Given the description of an element on the screen output the (x, y) to click on. 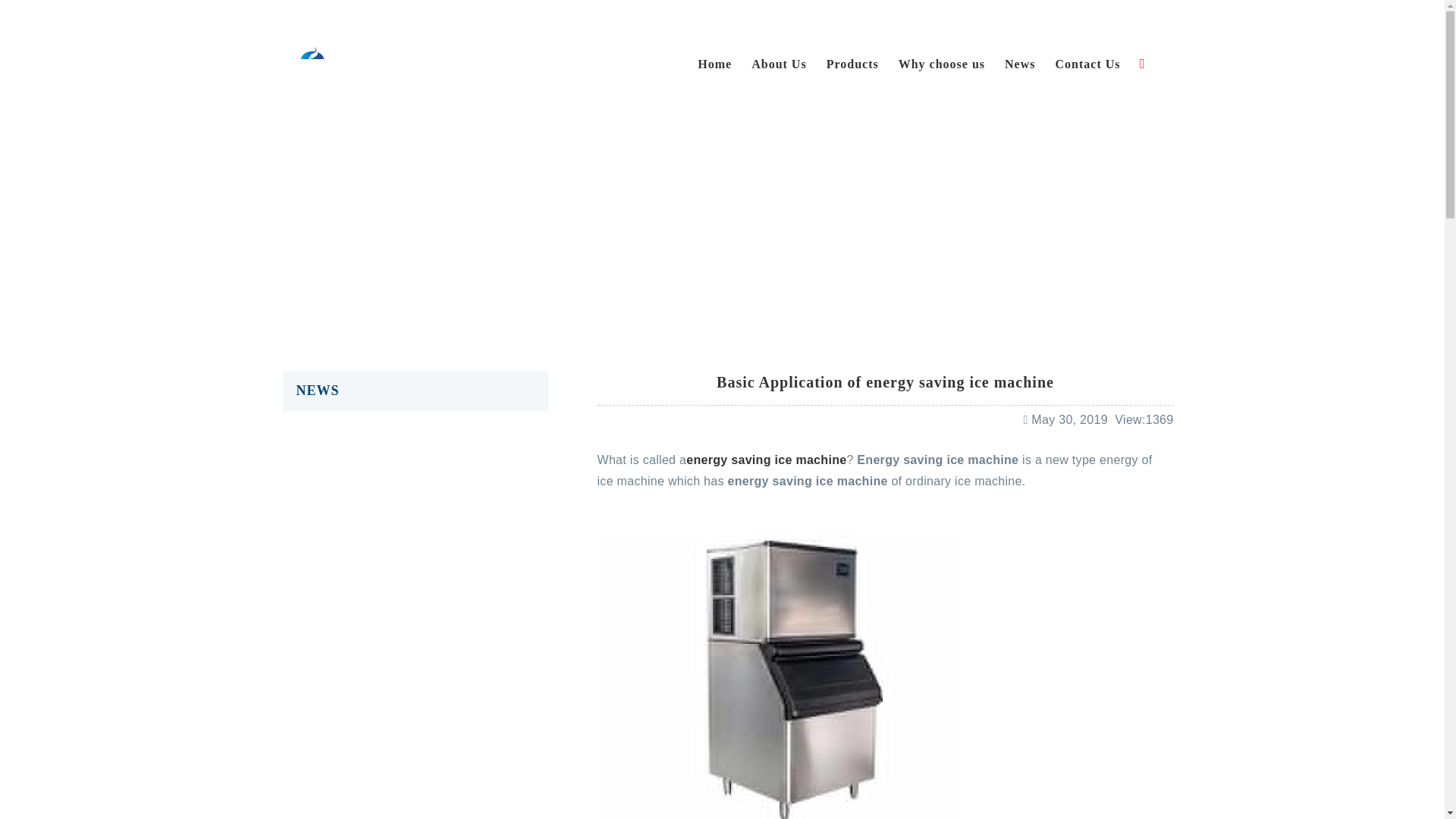
Why choose us (941, 64)
Home (664, 209)
energy saving ice machine (765, 459)
facebook (1062, 16)
About Us (778, 64)
NEWS (414, 391)
News (720, 209)
youtube (1145, 16)
skype (1129, 16)
LinkedIn (1112, 16)
